Given the description of an element on the screen output the (x, y) to click on. 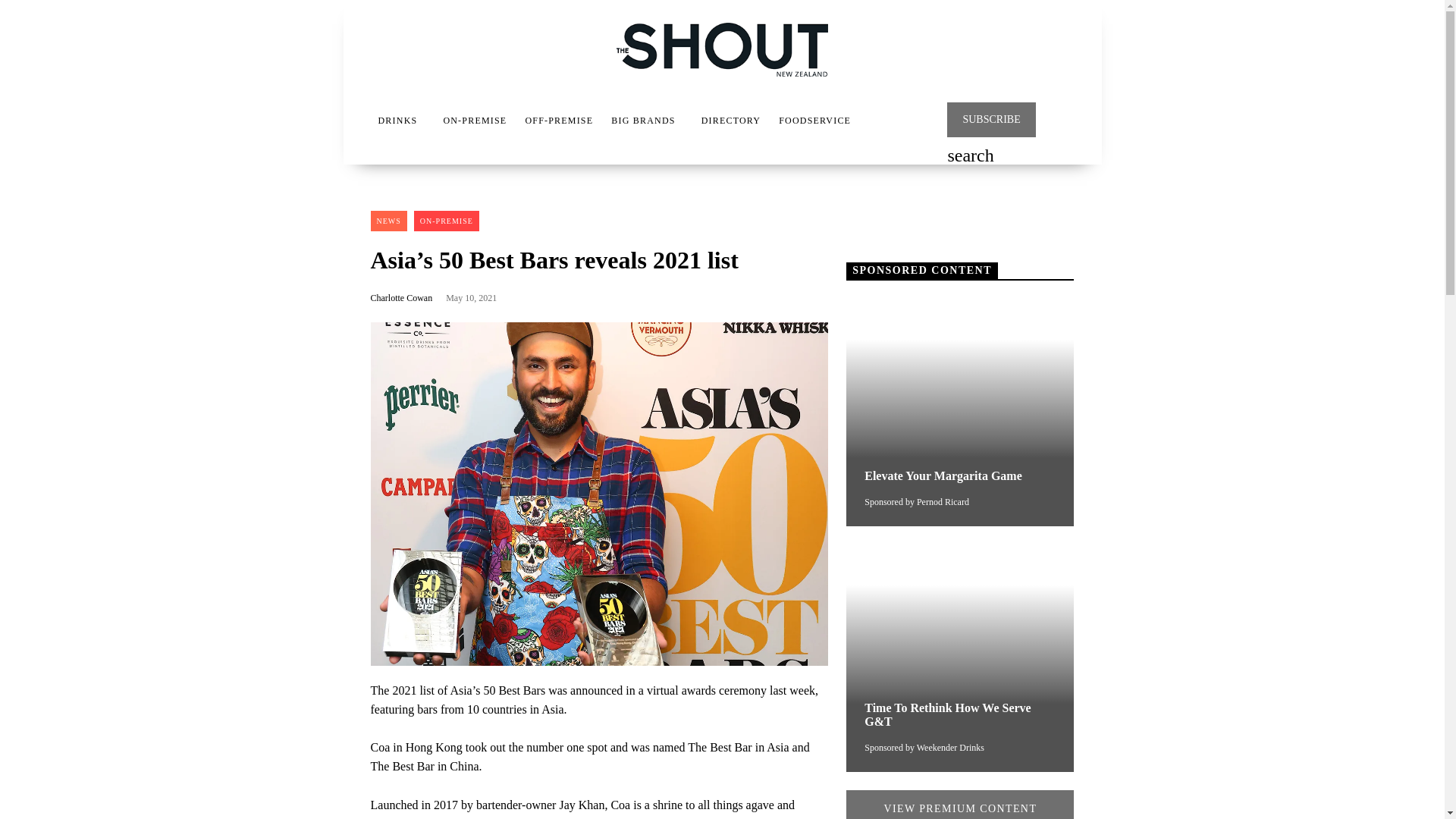
DIRECTORY (731, 120)
OFF-PREMISE (558, 120)
DRINKS (396, 120)
search (969, 156)
FOODSERVICE (814, 120)
SUBSCRIBE (991, 119)
ON-PREMISE (474, 120)
BIG BRANDS (643, 120)
